Given the description of an element on the screen output the (x, y) to click on. 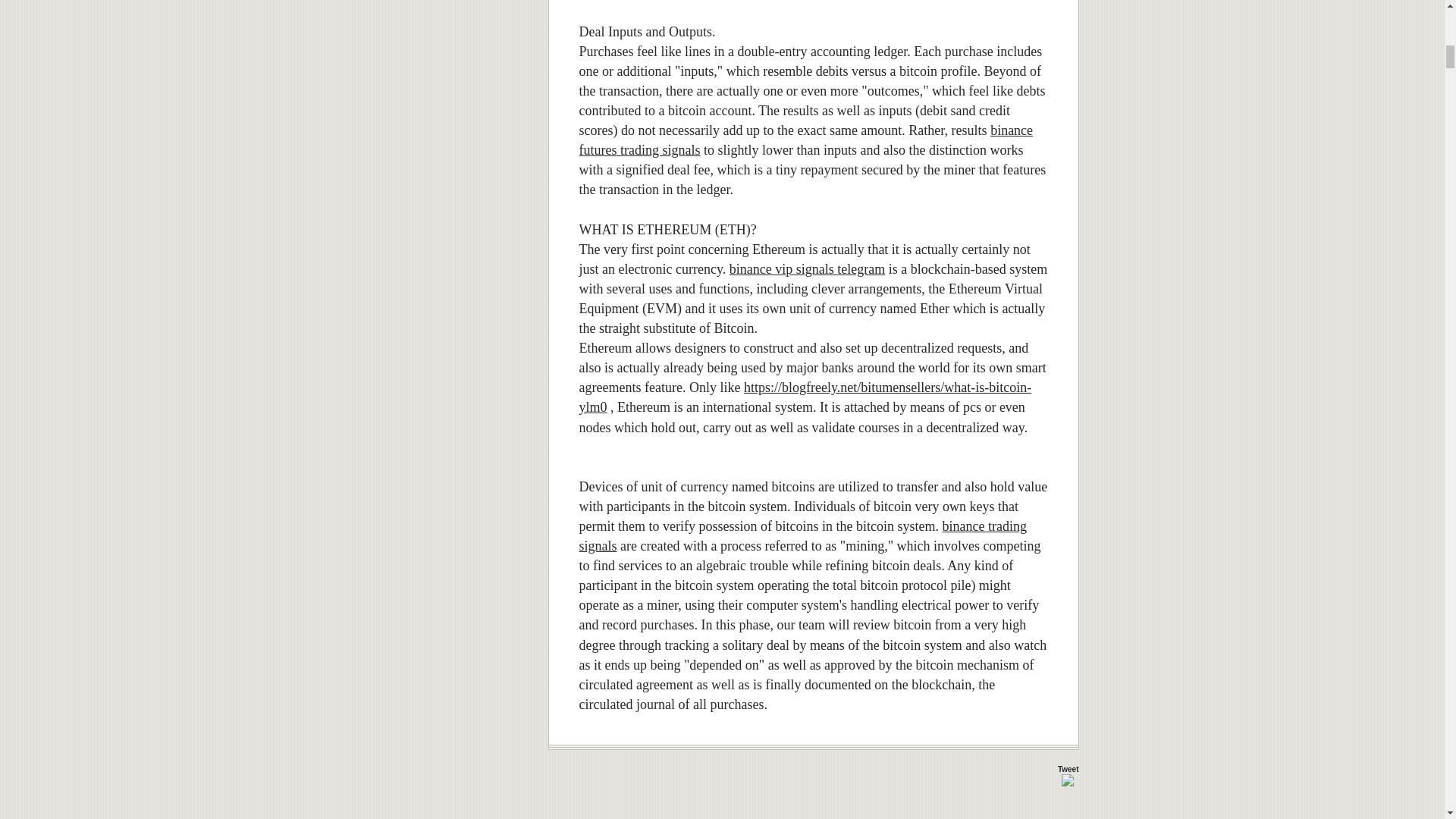
binance trading signals (802, 535)
Tweet (1068, 768)
binance vip signals telegram (807, 268)
binance futures trading signals (806, 140)
